Given the description of an element on the screen output the (x, y) to click on. 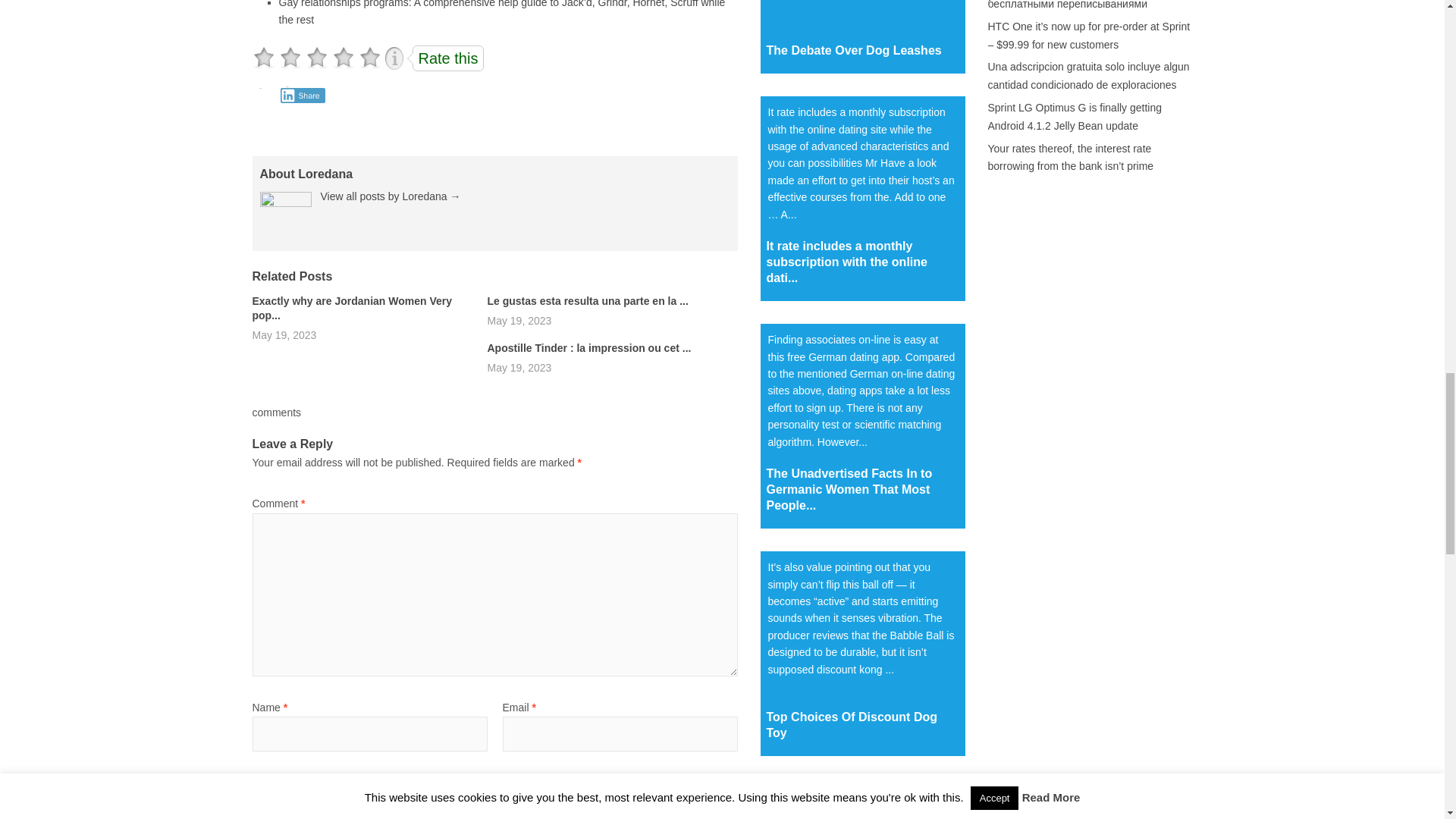
Apostille Tinder : la impression ou cet ... (588, 347)
Le gustas esta resulta una parte en la ... (586, 300)
Share (302, 95)
Exactly why are Jordanian Women Very pop... (351, 307)
